Given the description of an element on the screen output the (x, y) to click on. 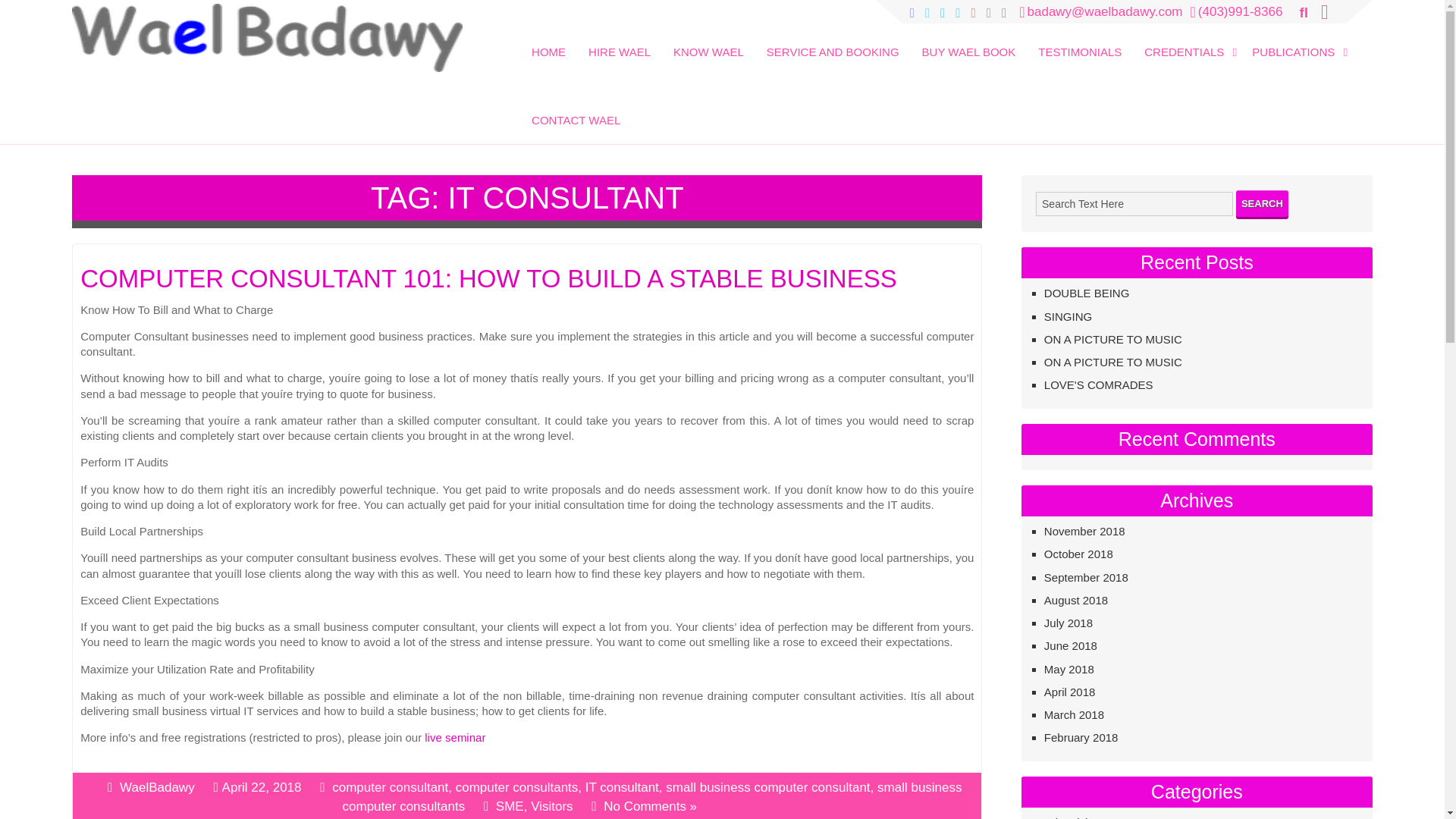
PUBLICATIONS (1296, 41)
CREDENTIALS (1186, 41)
COMPUTER CONSULTANT 101: HOW TO BUILD A STABLE BUSINESS (527, 282)
CONTACT WAEL (575, 110)
BUY WAEL BOOK (968, 41)
Search (1262, 203)
Posts by WaelBadawy (157, 786)
KNOW WAEL (708, 41)
HIRE WAEL (619, 41)
Search (32, 13)
TESTIMONIALS (1079, 41)
live seminar (454, 737)
HOME (548, 41)
SERVICE AND BOOKING (832, 41)
